Given the description of an element on the screen output the (x, y) to click on. 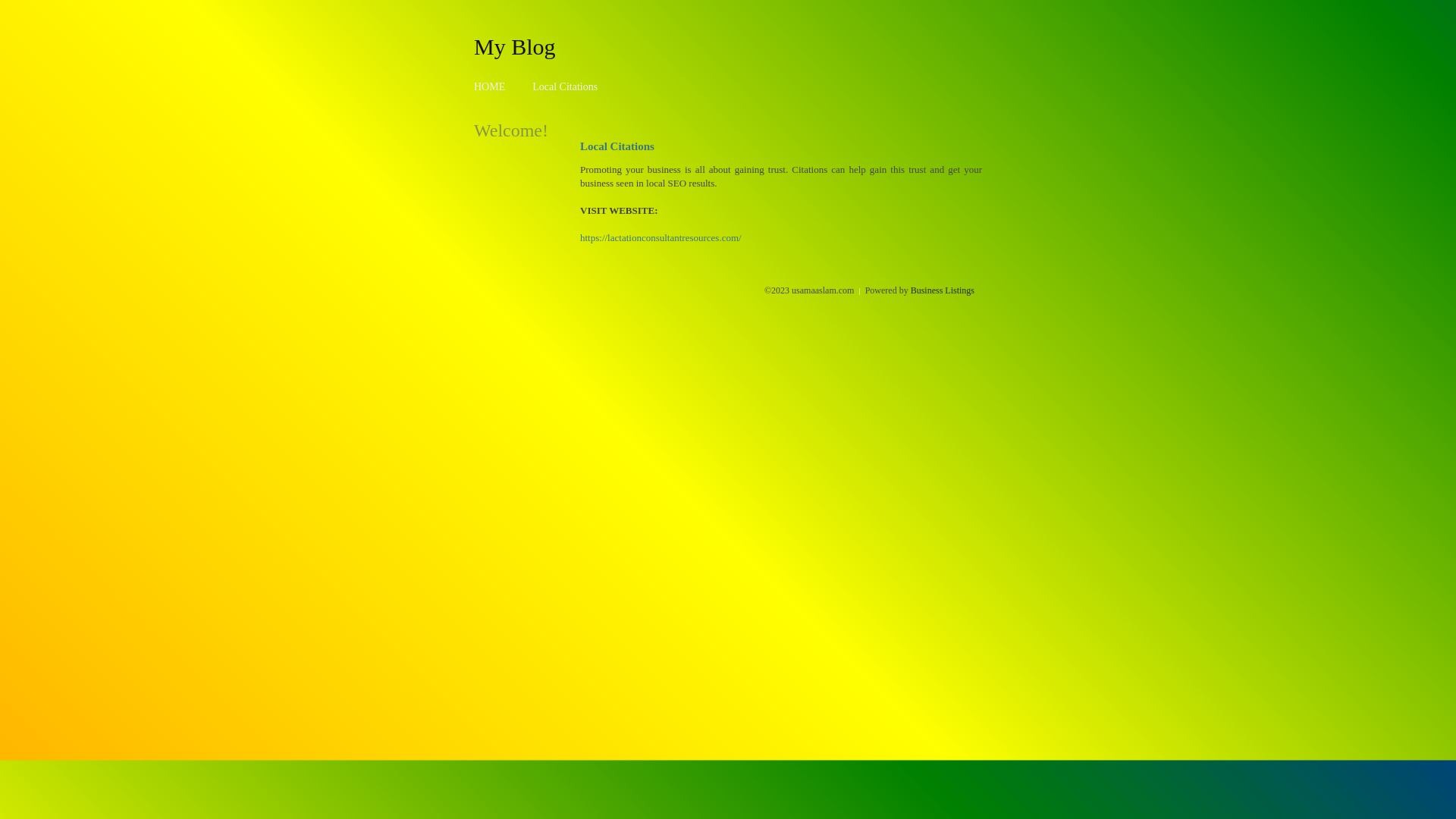
https://lactationconsultantresources.com/ Element type: text (660, 237)
Business Listings Element type: text (942, 290)
Local Citations Element type: text (564, 86)
HOME Element type: text (489, 86)
My Blog Element type: text (514, 46)
